Given the description of an element on the screen output the (x, y) to click on. 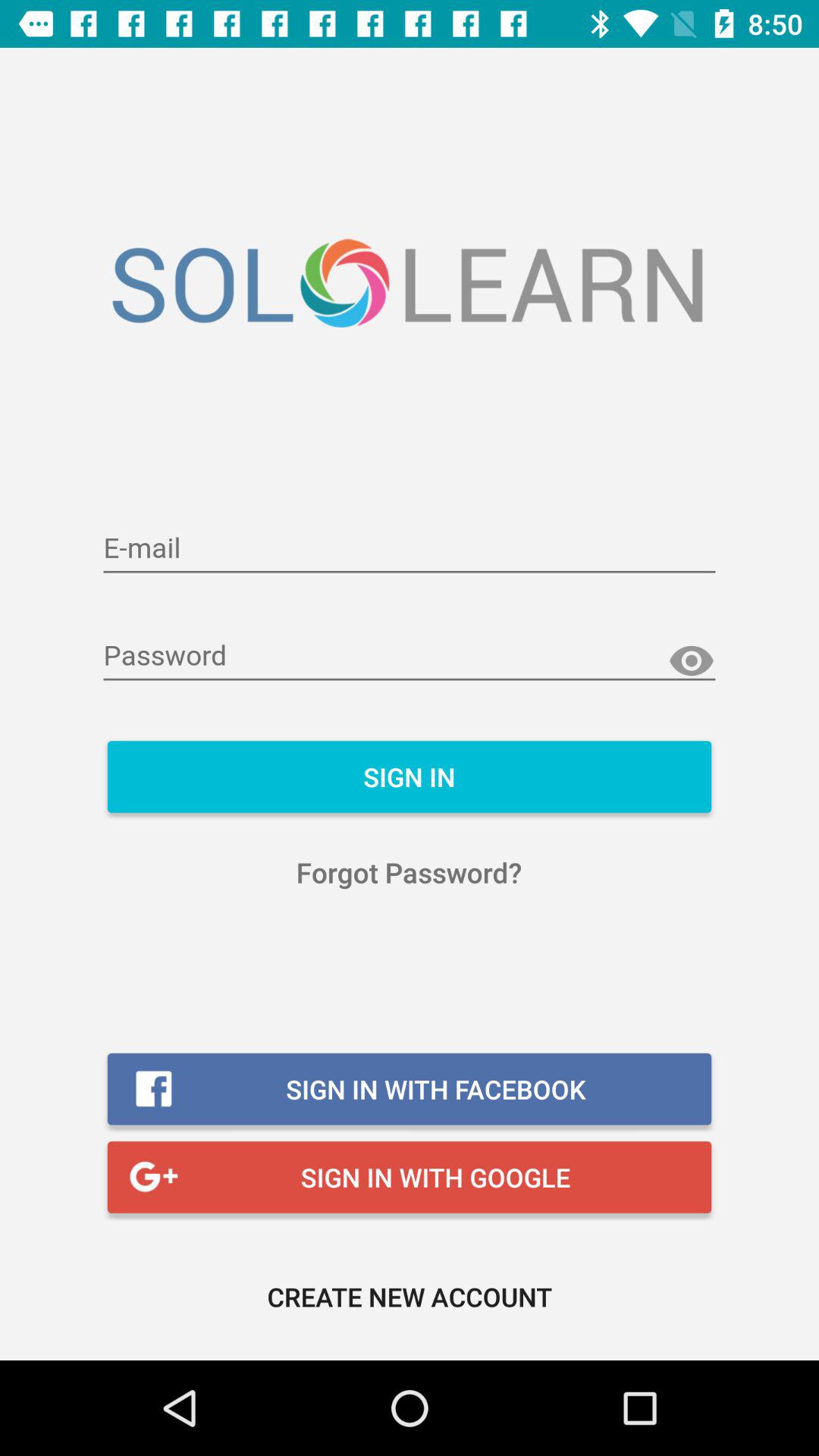
flip to forgot password? (409, 872)
